Given the description of an element on the screen output the (x, y) to click on. 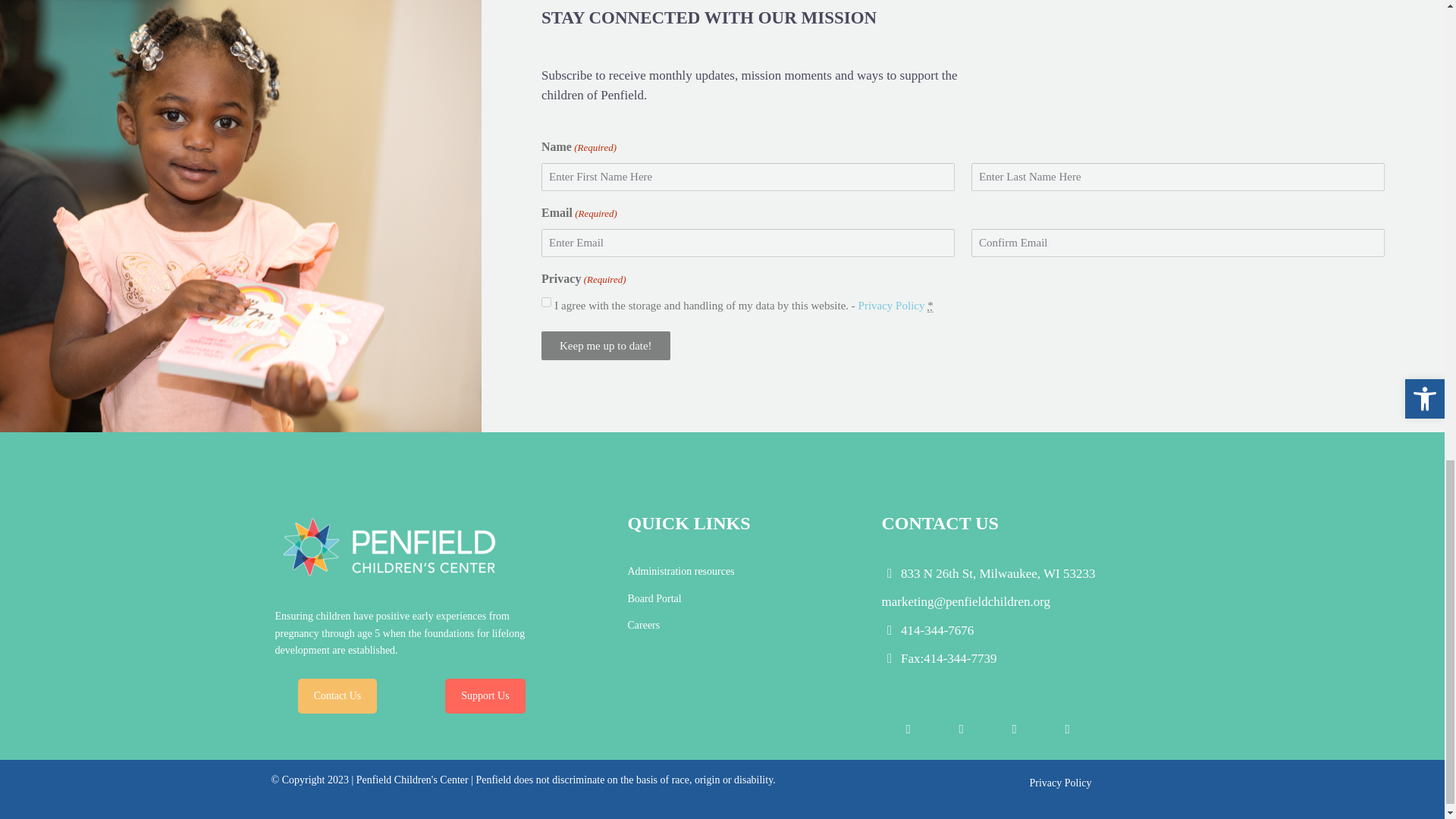
I agree (546, 302)
Keep me up to date! (605, 345)
